Given the description of an element on the screen output the (x, y) to click on. 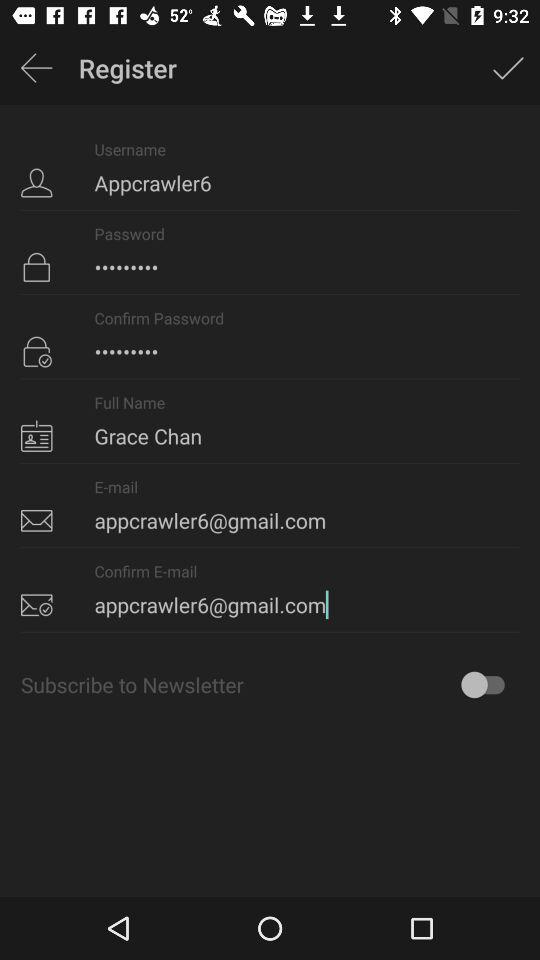
select the item to the left of the register item (36, 68)
